Given the description of an element on the screen output the (x, y) to click on. 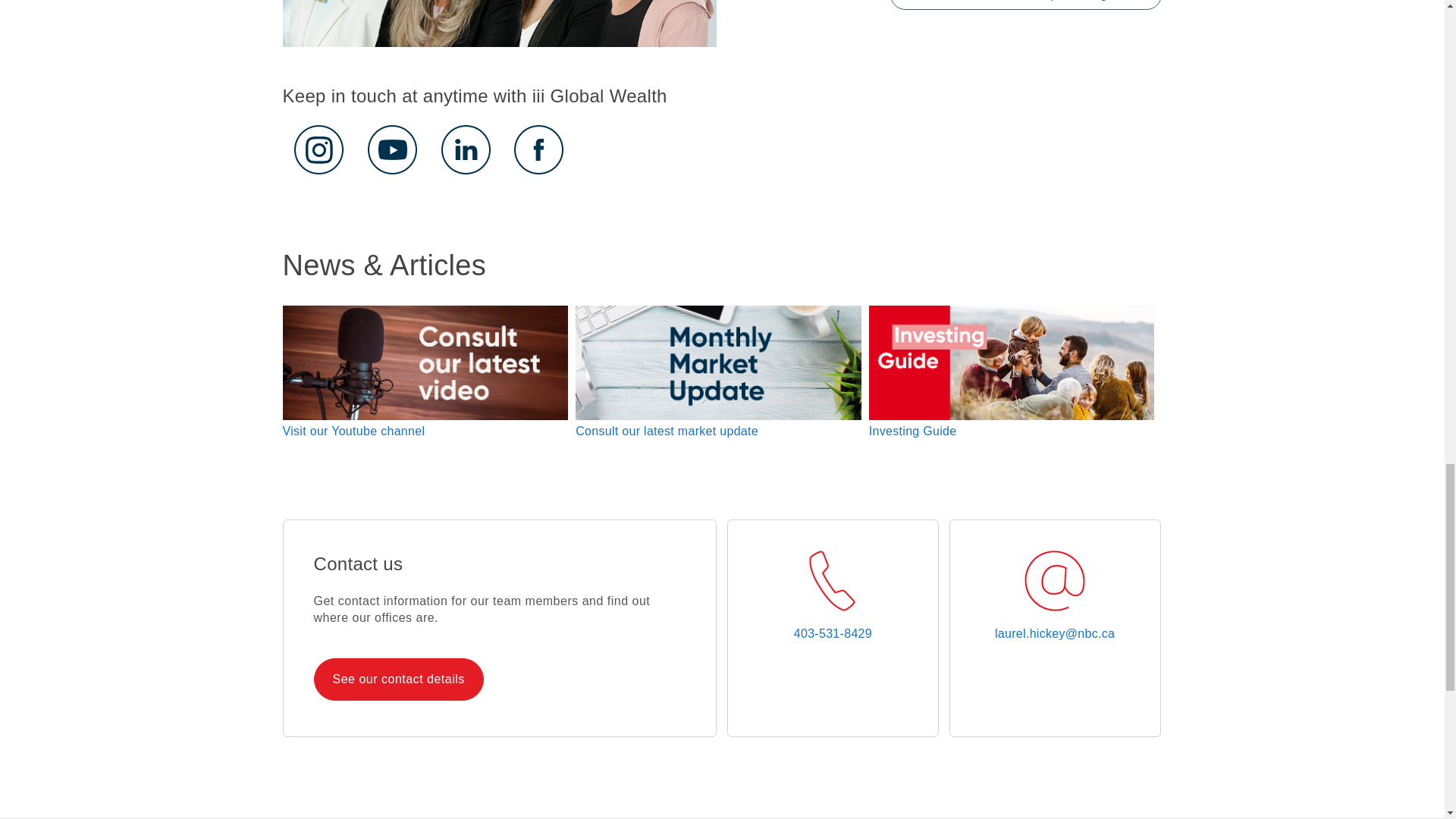
403-531-8429 (832, 633)
Consult our latest market update (666, 431)
Discover our 3 Step Offering (1025, 4)
Investing Guide (912, 431)
See our contact details (397, 678)
Visit our Youtube channel (353, 431)
